Given the description of an element on the screen output the (x, y) to click on. 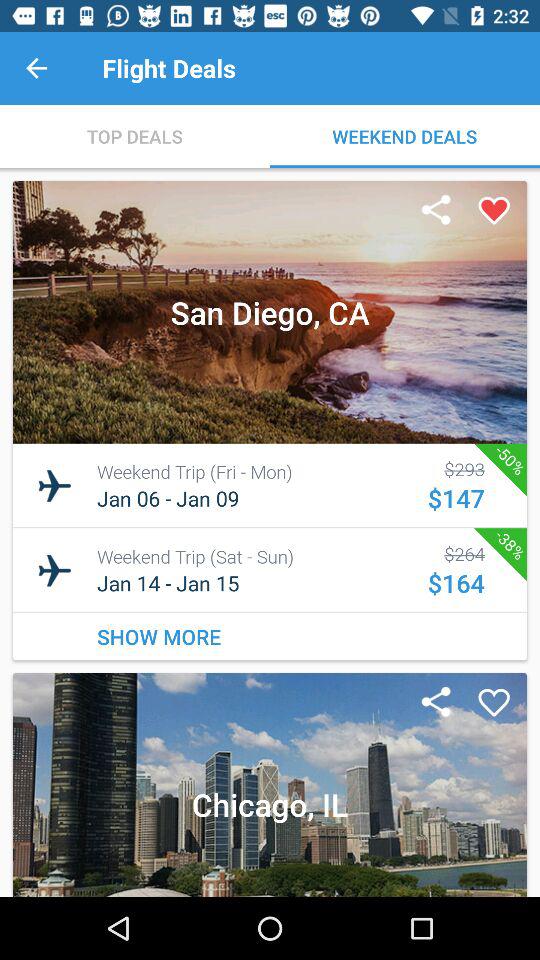
favorite it (494, 703)
